Given the description of an element on the screen output the (x, y) to click on. 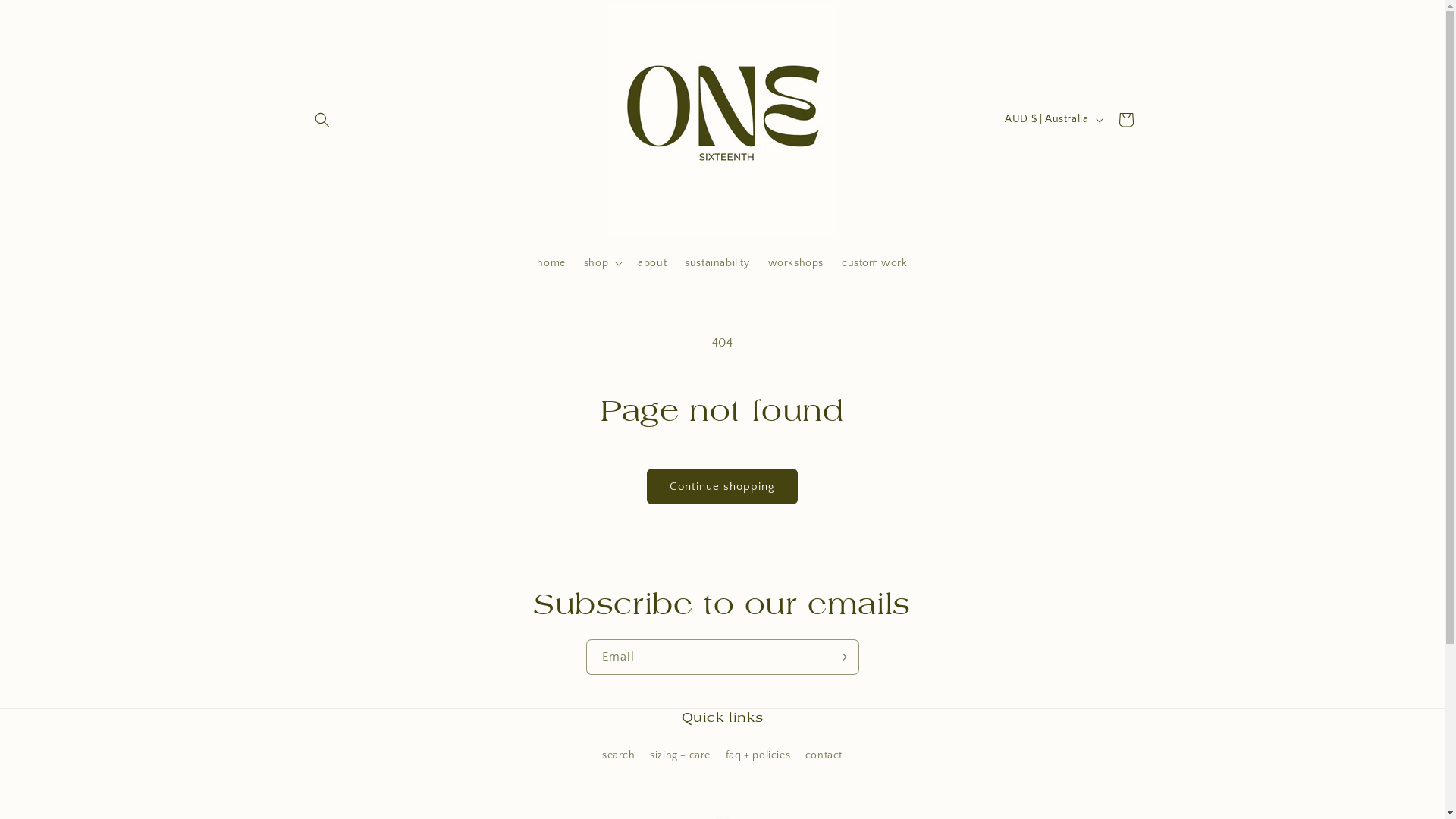
AUD $ | Australia Element type: text (1051, 118)
about Element type: text (651, 263)
Cart Element type: text (1125, 119)
faq + policies Element type: text (757, 755)
sustainability Element type: text (716, 263)
search Element type: text (618, 757)
Continue shopping Element type: text (721, 486)
workshops Element type: text (795, 263)
contact Element type: text (823, 755)
custom work Element type: text (874, 263)
home Element type: text (550, 263)
sizing + care Element type: text (679, 755)
